Given the description of an element on the screen output the (x, y) to click on. 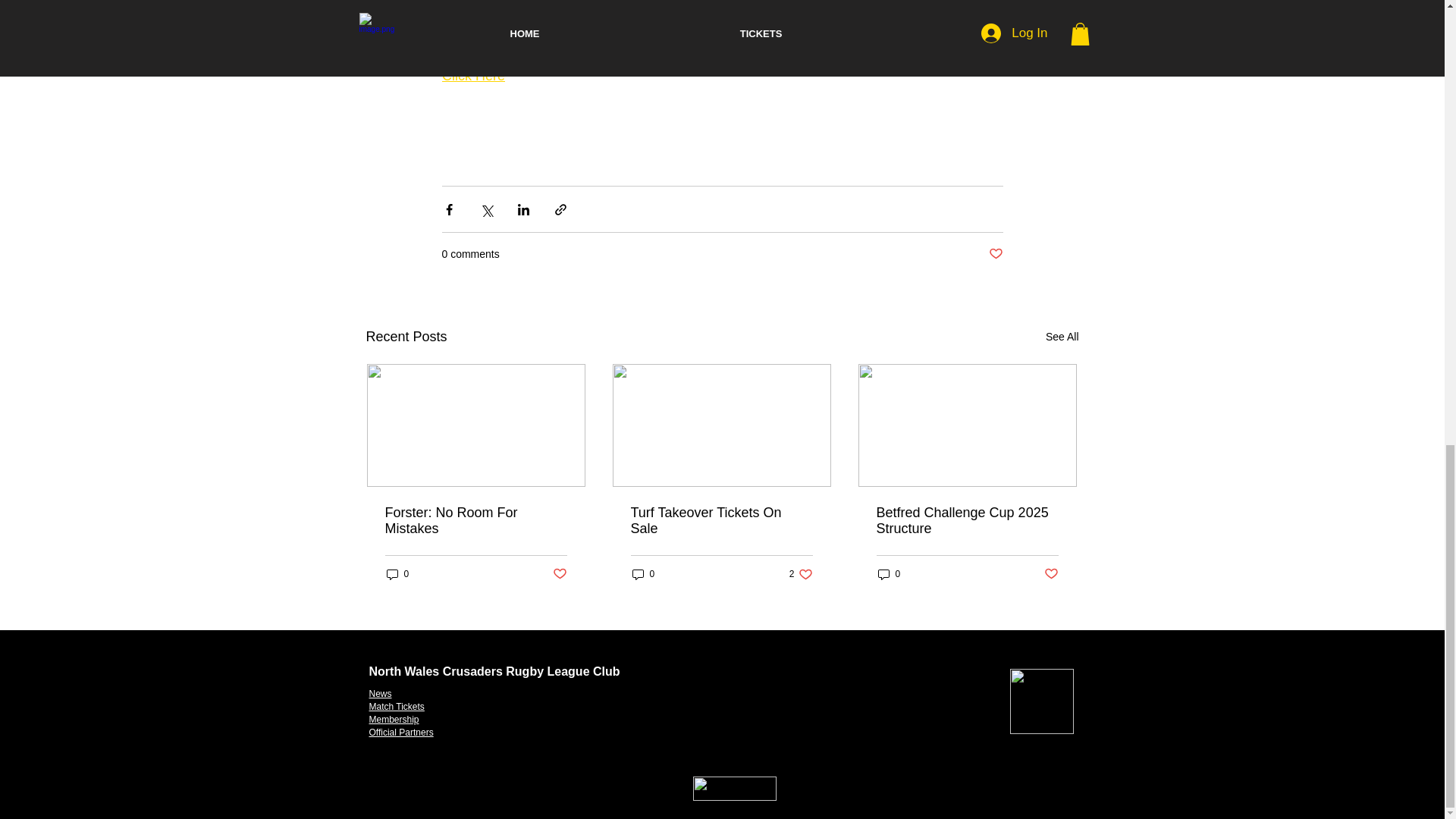
Forster: No Room For Mistakes (476, 521)
ContentHutlogoWHT.png (734, 788)
Post not marked as liked (1050, 574)
Post not marked as liked (558, 574)
News (379, 693)
Official Partners (400, 732)
Match Tickets (395, 706)
Turf Takeover Tickets On Sale (721, 521)
0 (397, 574)
0 (889, 574)
Membership (393, 719)
0 (643, 574)
Post not marked as liked (800, 574)
See All (995, 254)
